Given the description of an element on the screen output the (x, y) to click on. 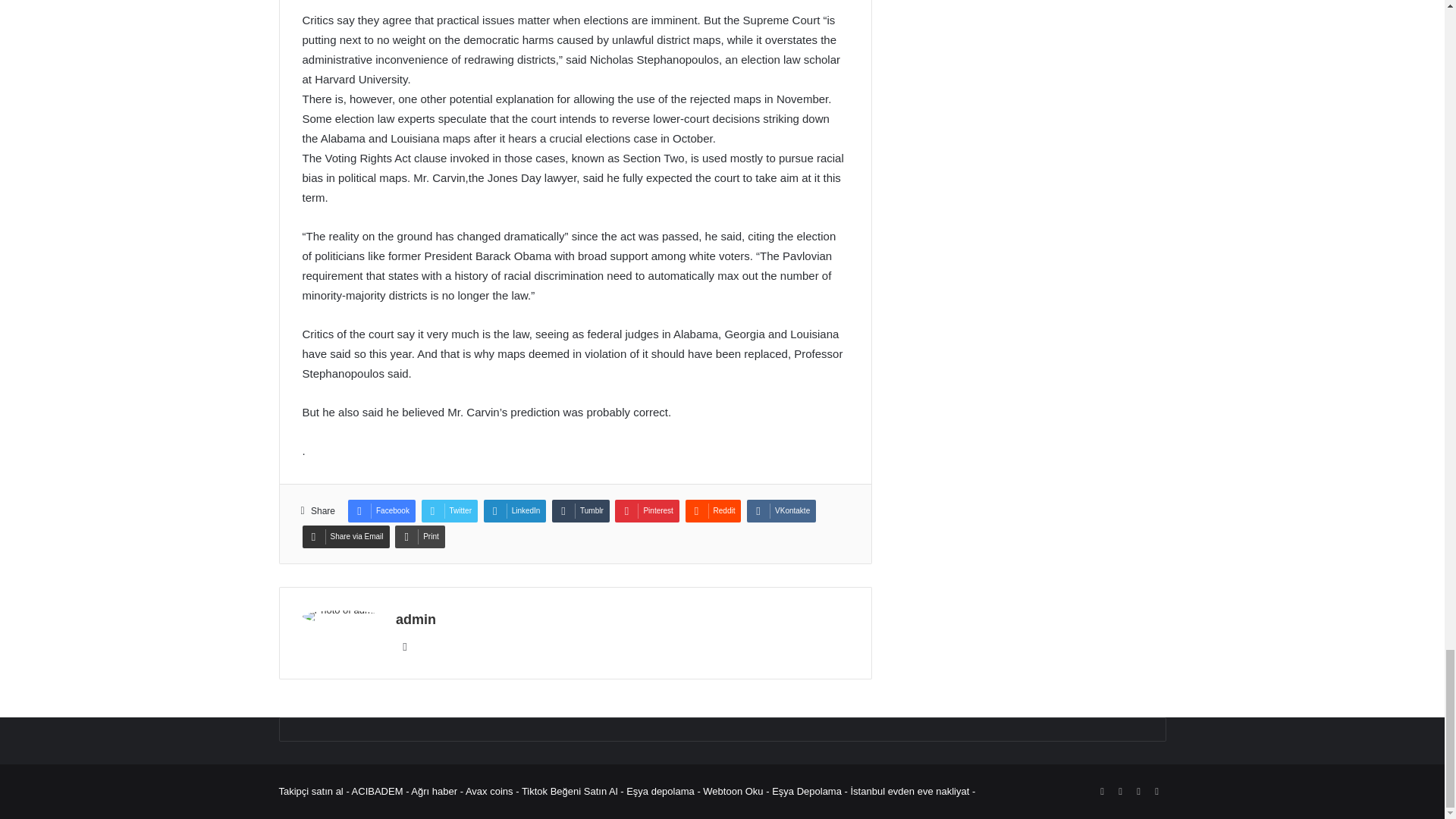
Print (419, 536)
Twitter (449, 510)
VKontakte (780, 510)
Facebook (380, 510)
Reddit (713, 510)
Share via Email (344, 536)
Pinterest (646, 510)
admin (415, 619)
Tumblr (580, 510)
LinkedIn (515, 510)
